Given the description of an element on the screen output the (x, y) to click on. 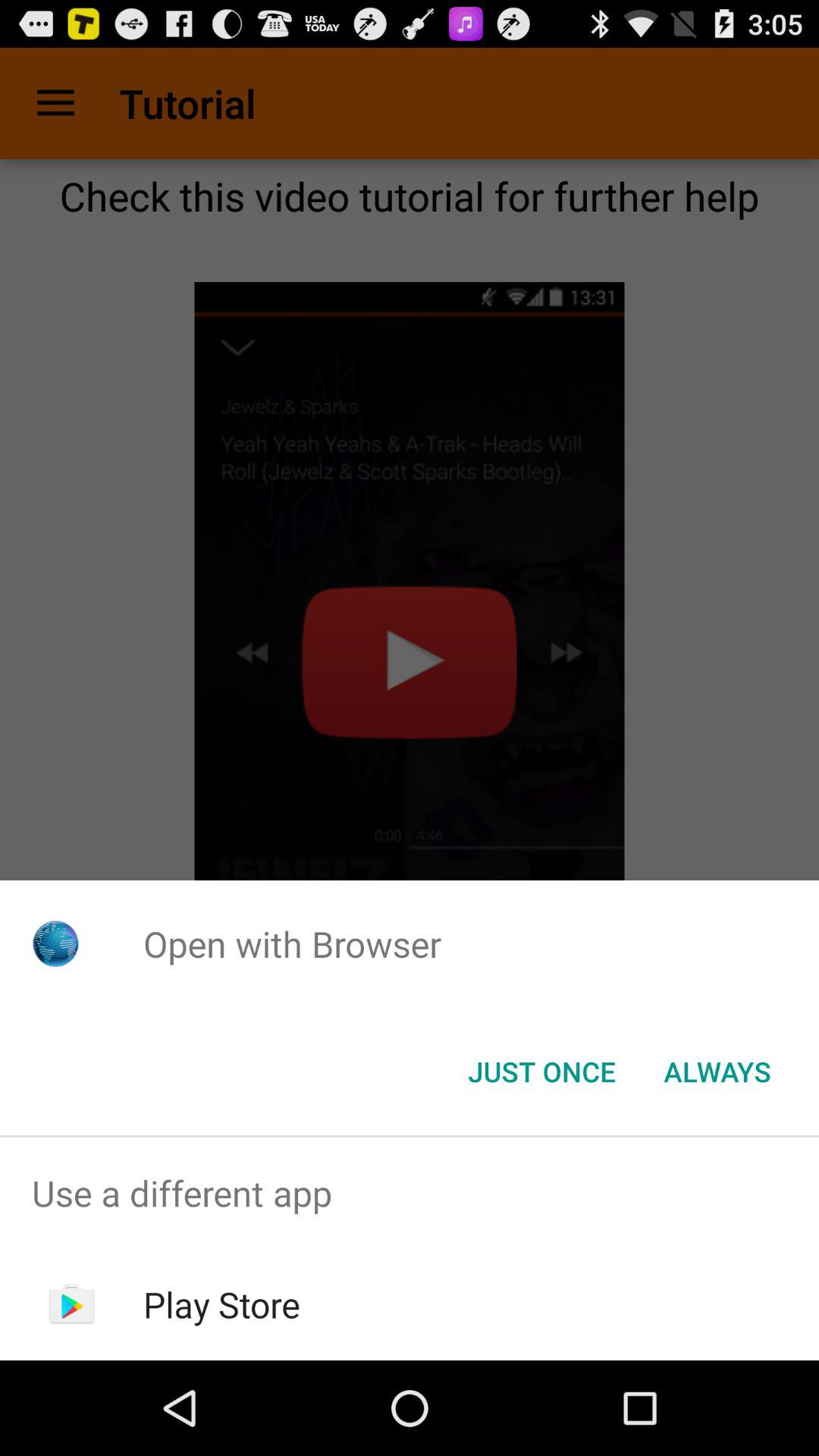
choose the just once button (541, 1071)
